Given the description of an element on the screen output the (x, y) to click on. 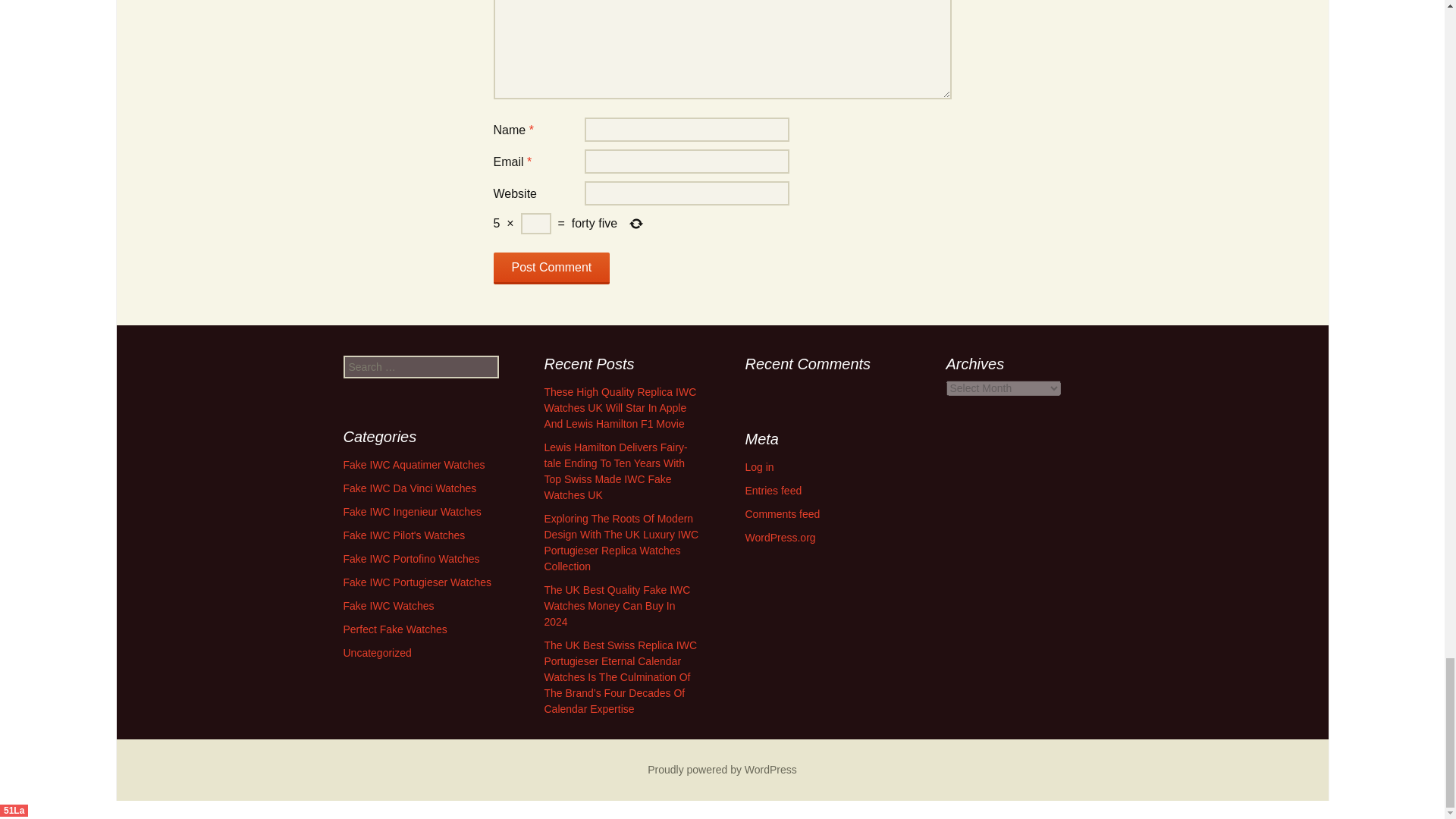
Fake IWC Da Vinci Watches (409, 488)
The UK Best Quality Fake IWC Watches Money Can Buy In 2024 (617, 605)
Fake IWC Aquatimer Watches (413, 464)
Fake IWC Ingenieur Watches (411, 511)
Log in (758, 467)
Perfect Fake Watches (394, 629)
Fake IWC Watches (387, 605)
Semantic Personal Publishing Platform (721, 769)
Fake IWC Pilot's Watches (403, 535)
Uncategorized (376, 653)
Fake IWC Portugieser Watches (417, 582)
Fake IWC Portofino Watches (410, 558)
Post Comment (551, 268)
